Given the description of an element on the screen output the (x, y) to click on. 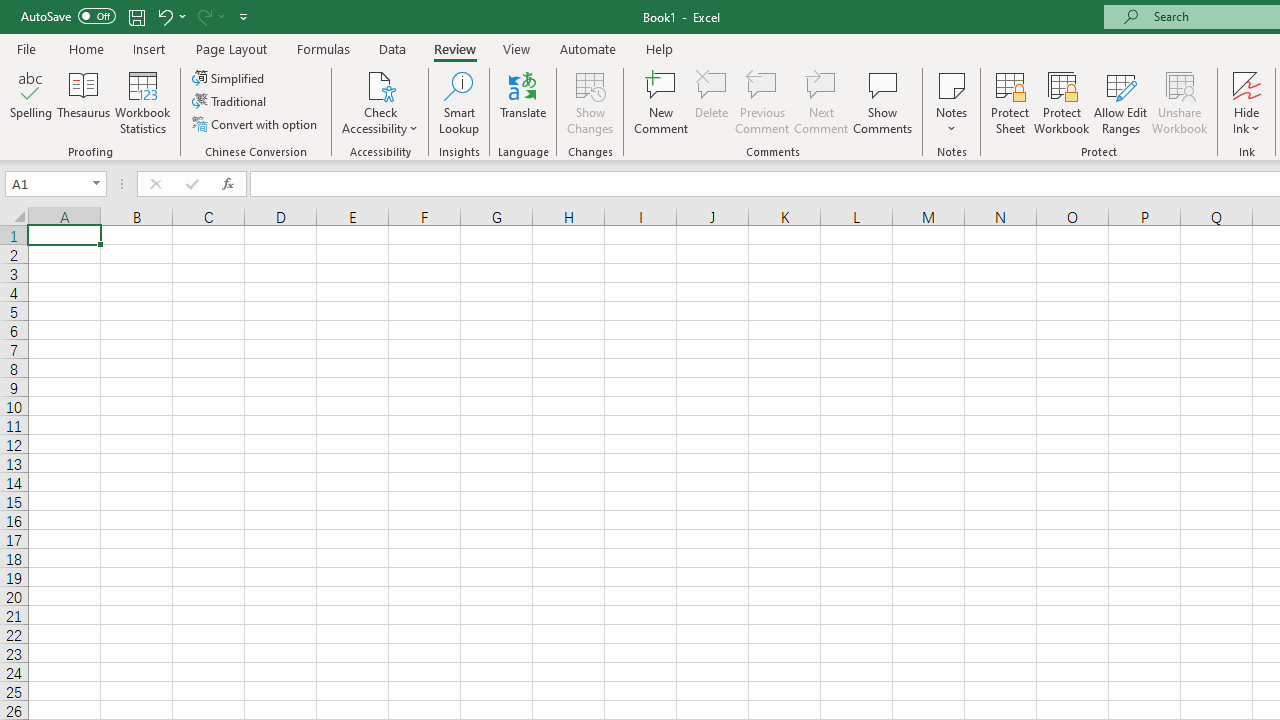
Translate (523, 102)
Notes (951, 102)
Hide Ink (1247, 102)
Spelling... (31, 102)
AutoSave (68, 16)
Automate (588, 48)
Thesaurus... (83, 102)
Check Accessibility (380, 84)
Check Accessibility (380, 102)
New Comment (661, 102)
